Given the description of an element on the screen output the (x, y) to click on. 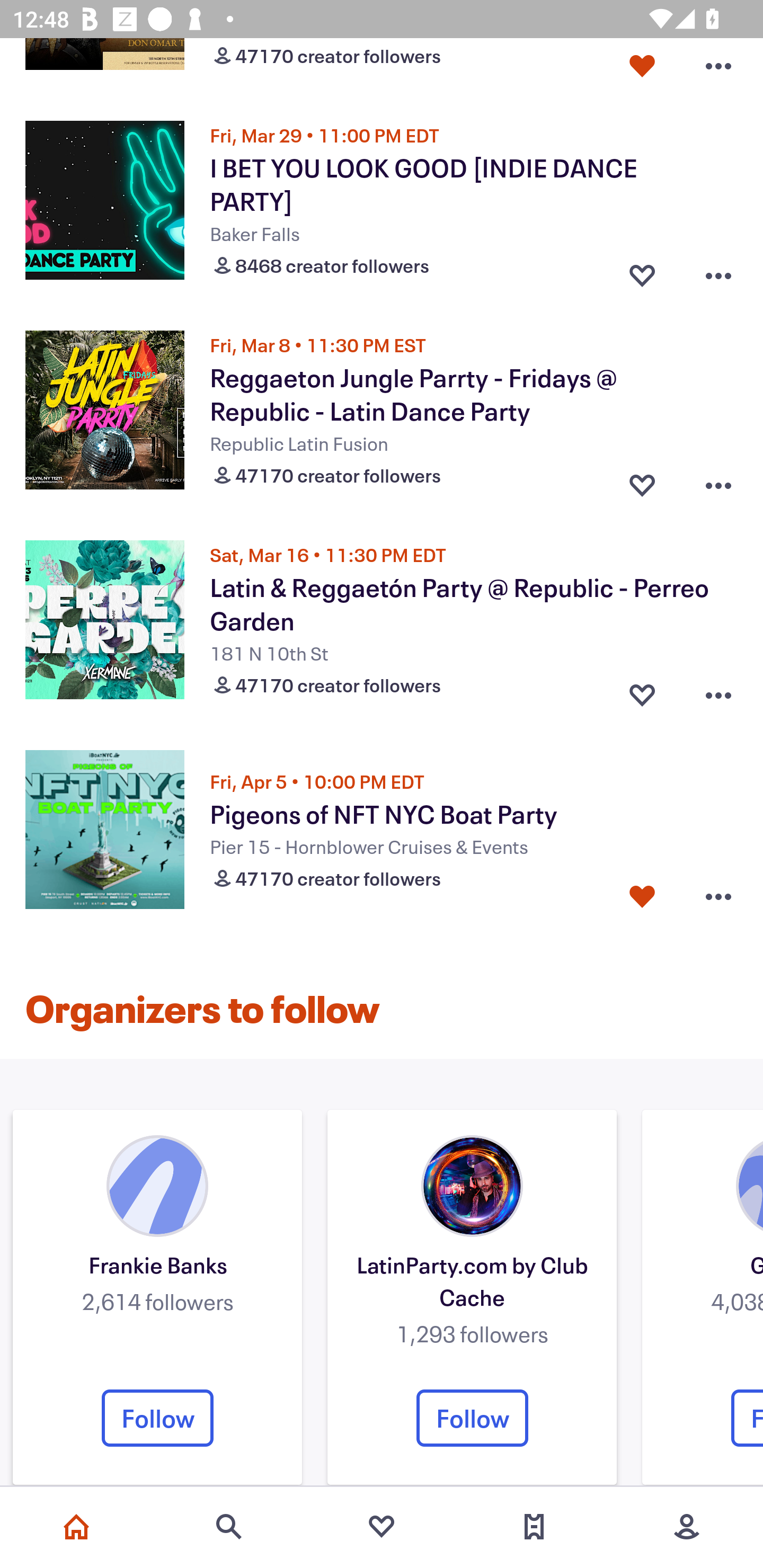
Favorite button (642, 66)
Overflow menu button (718, 66)
Favorite button (642, 271)
Overflow menu button (718, 271)
Favorite button (642, 480)
Overflow menu button (718, 480)
Favorite button (642, 690)
Overflow menu button (718, 690)
Favorite button (642, 896)
Overflow menu button (718, 896)
Follow Organizer's follow button (157, 1418)
Follow Organizer's follow button (471, 1418)
Home (76, 1526)
Search events (228, 1526)
Favorites (381, 1526)
Tickets (533, 1526)
More (686, 1526)
